Given the description of an element on the screen output the (x, y) to click on. 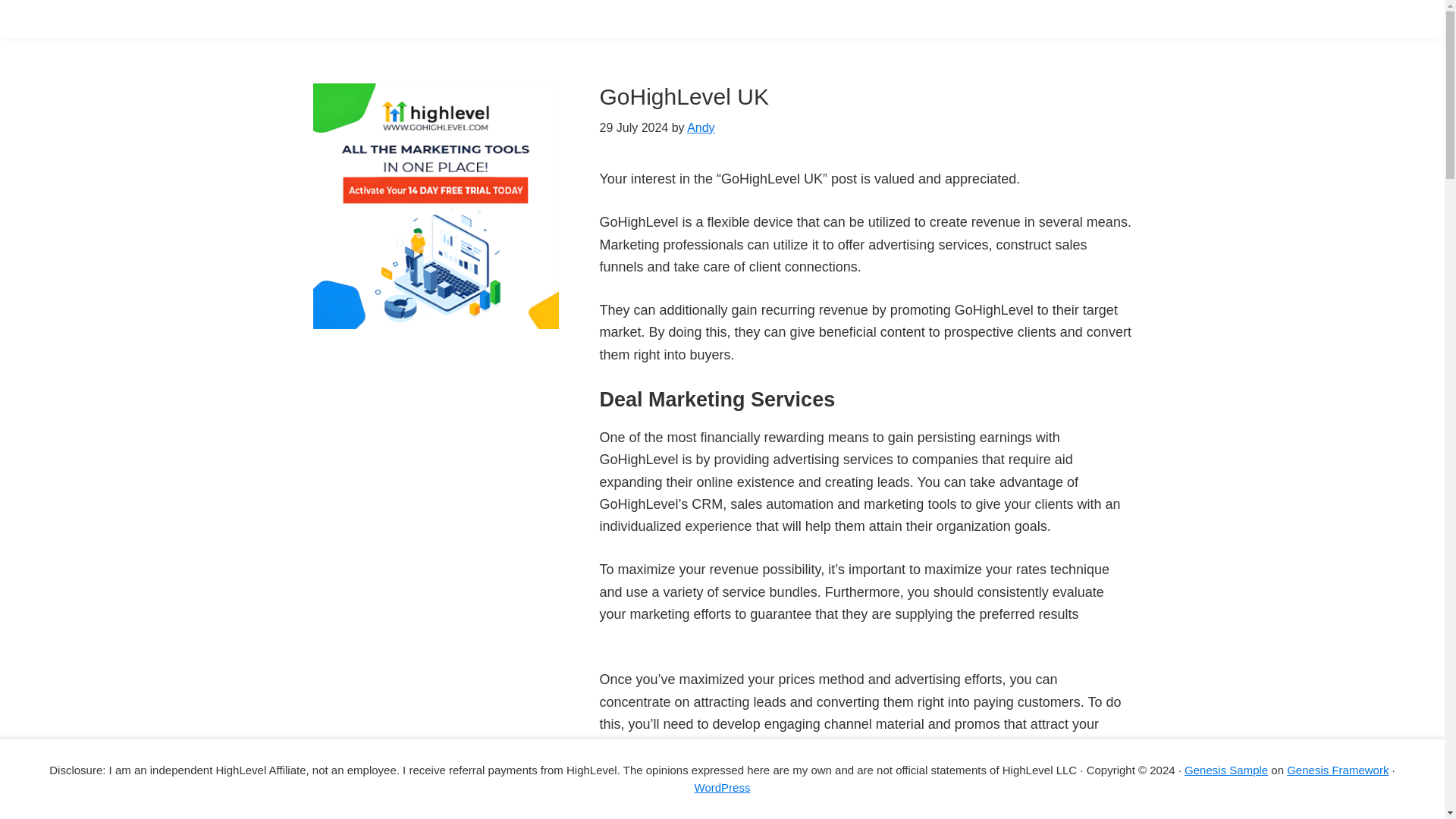
Genesis Sample (1226, 769)
WordPress (722, 787)
Andy (700, 127)
Genesis Framework (1338, 769)
